Given the description of an element on the screen output the (x, y) to click on. 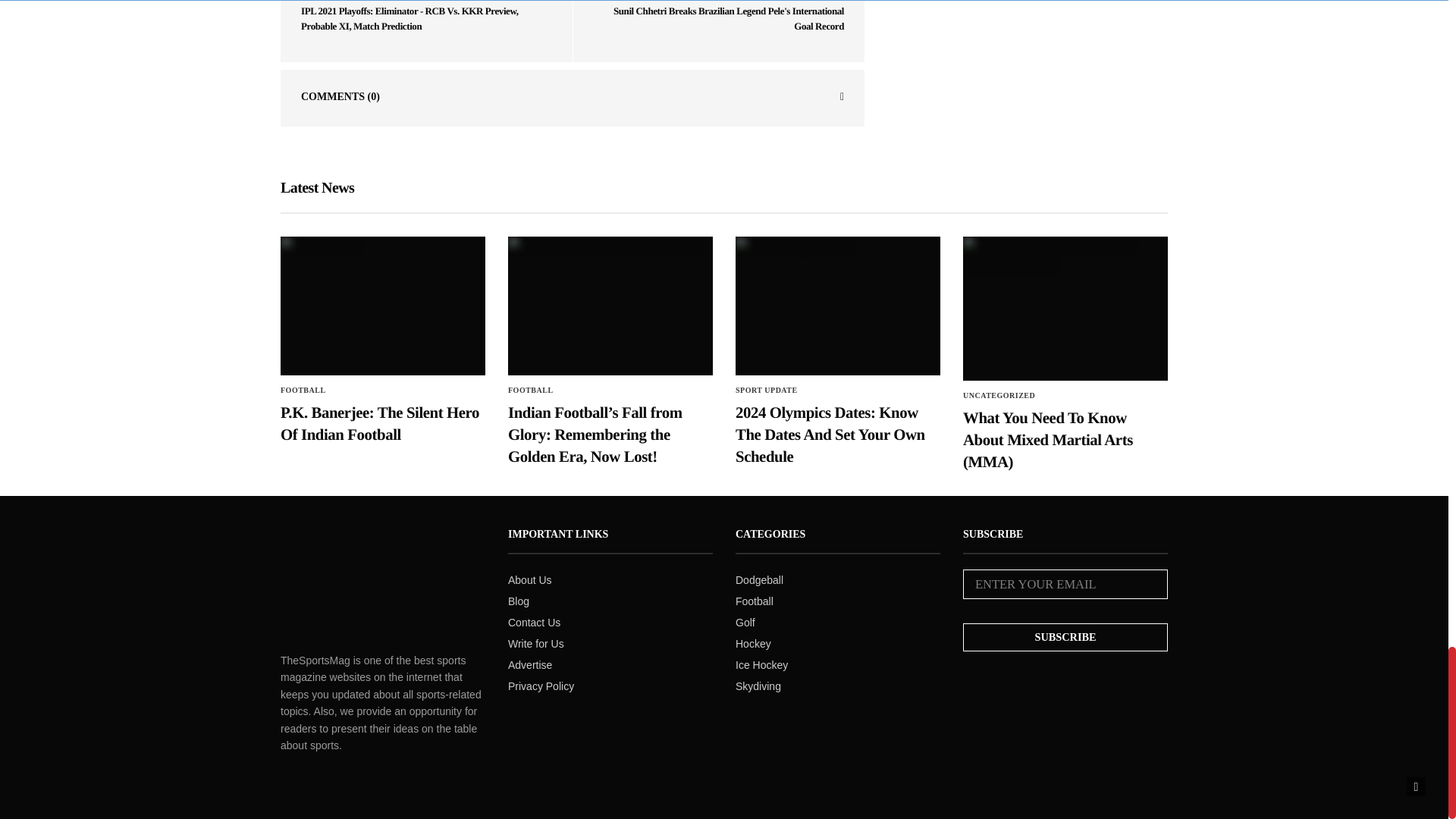
Subscribe (1064, 637)
